Given the description of an element on the screen output the (x, y) to click on. 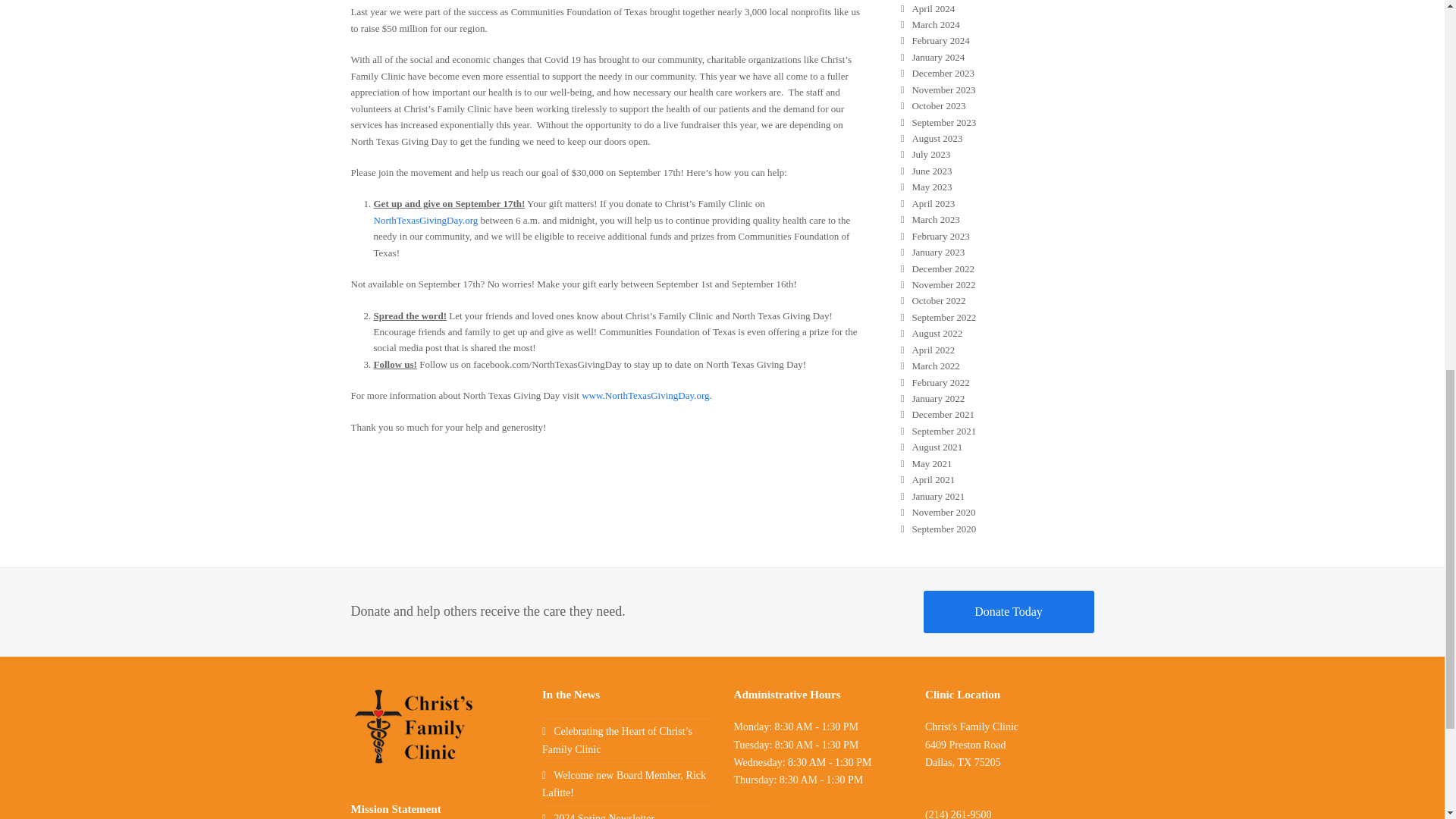
www.NorthTexasGivingDay.org (644, 395)
December 2023 (937, 72)
November 2023 (938, 89)
July 2023 (925, 153)
February 2024 (935, 40)
October 2023 (933, 105)
May 2023 (926, 186)
September 2023 (938, 122)
NorthTexasGivingDay.org (424, 220)
January 2024 (932, 57)
